Given the description of an element on the screen output the (x, y) to click on. 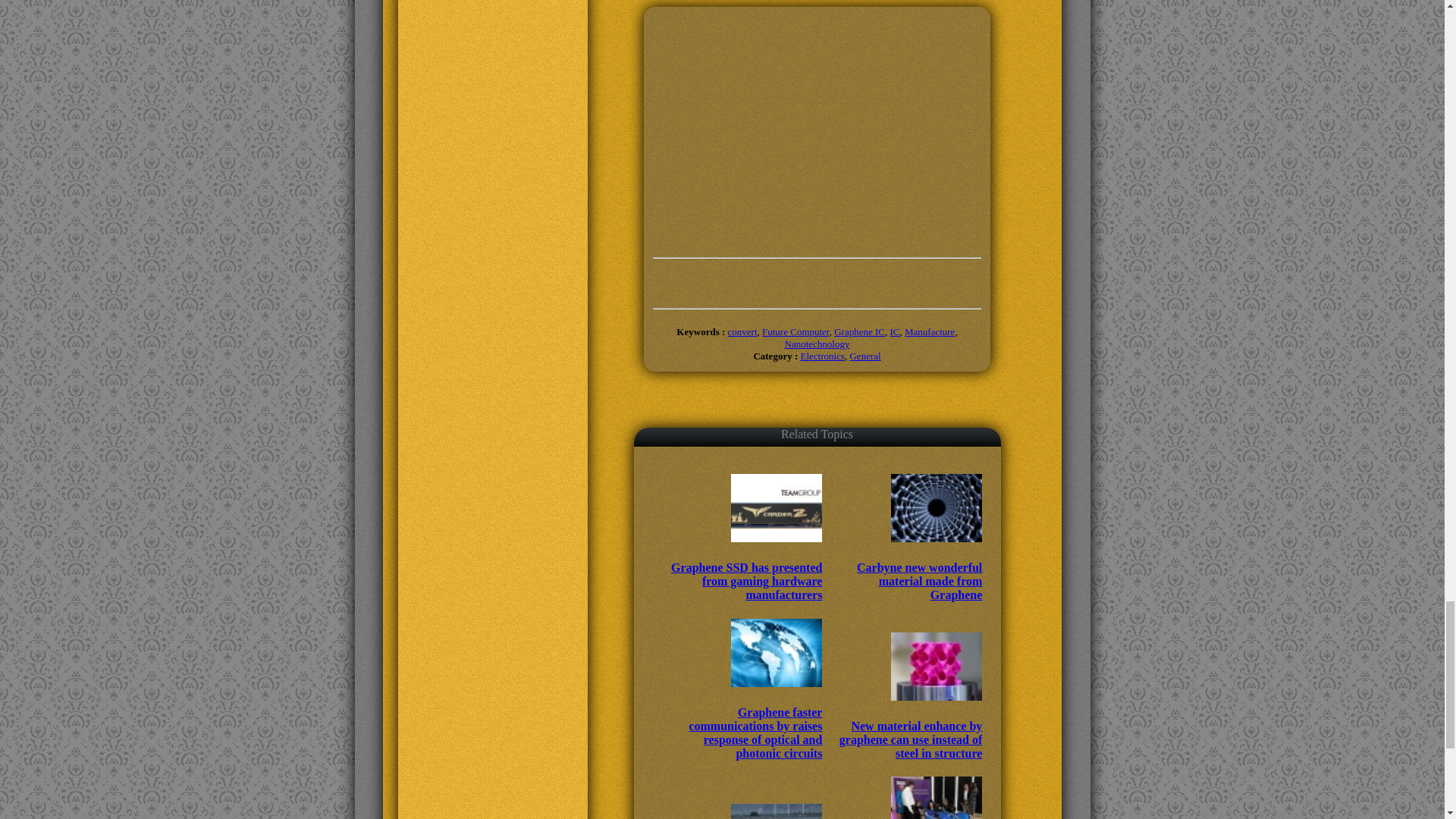
Manufacture (929, 331)
convert (742, 331)
Future Computer (795, 331)
General (864, 355)
Nanotechnology (817, 343)
Graphene IC (859, 331)
Electronics (821, 355)
